Given the description of an element on the screen output the (x, y) to click on. 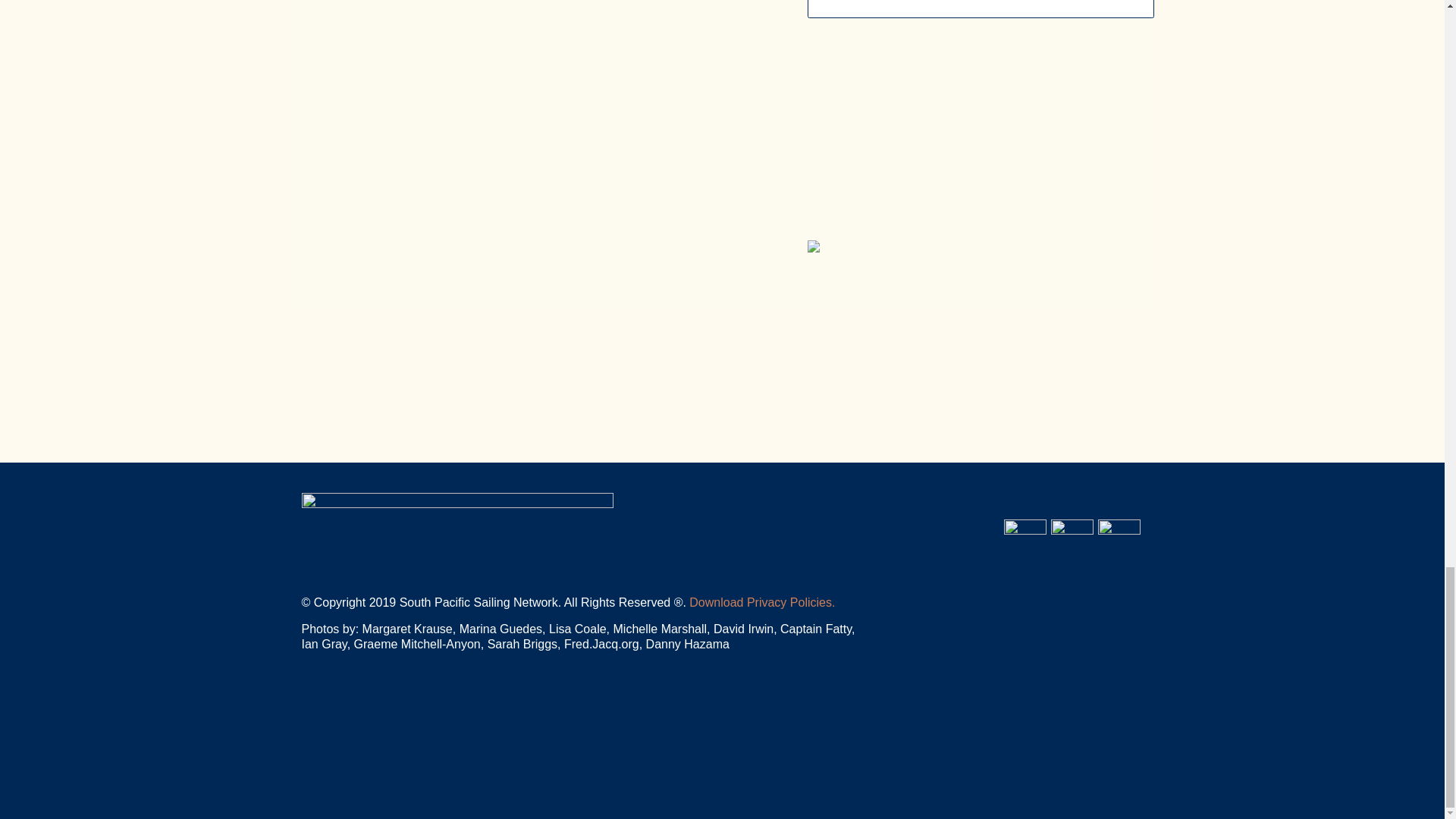
Download Privacy Policies. (761, 602)
